Given the description of an element on the screen output the (x, y) to click on. 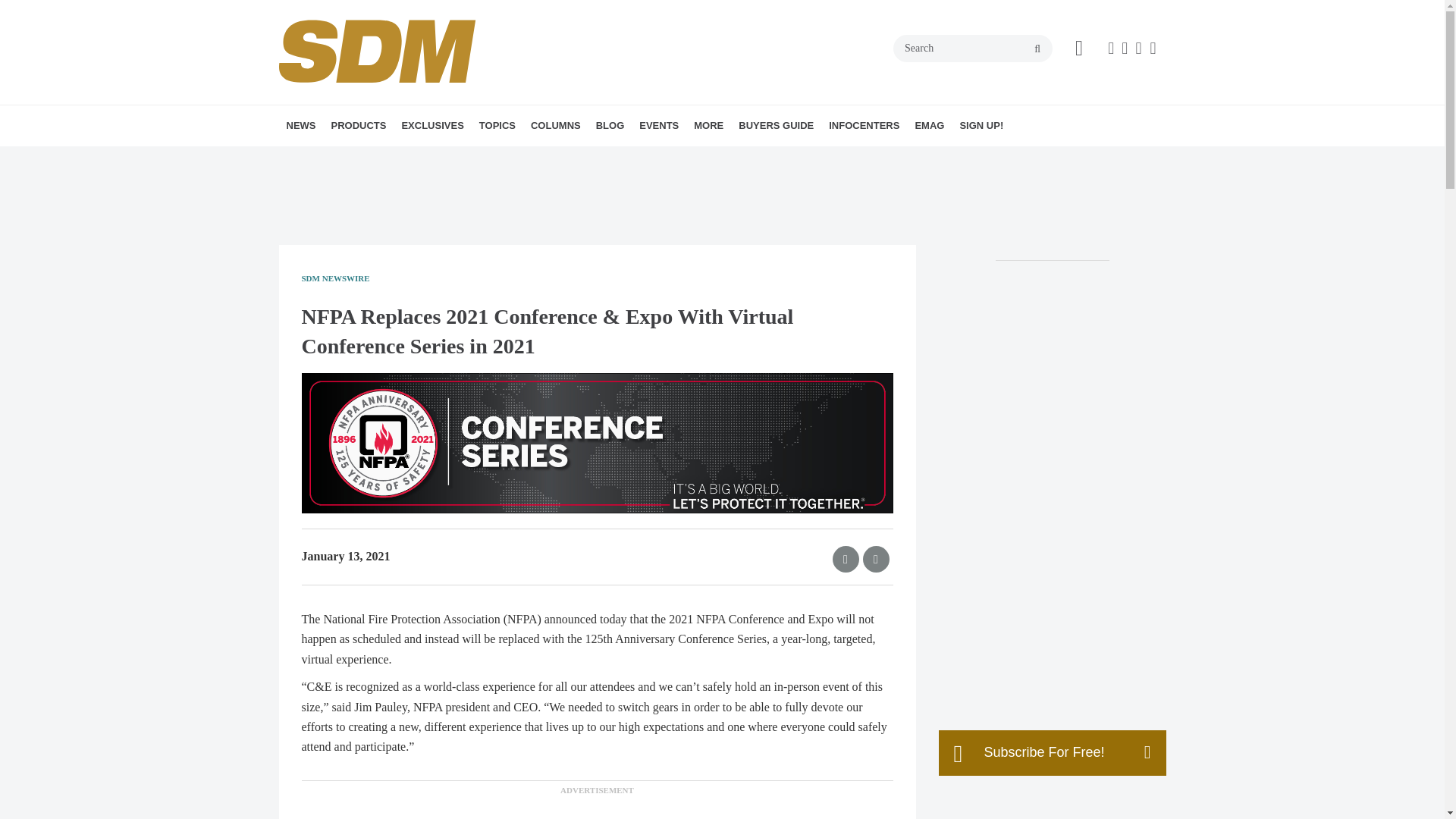
STATE OF THE MARKET SERIES (510, 158)
DIGITAL SHUFFLE (617, 158)
INTEGRATION SPOTLIGHT (636, 158)
search (1037, 49)
Search (972, 48)
PRODUCTS (358, 125)
VIDEO SOLUTIONS (573, 158)
EDITOR'S ANGLE (625, 158)
SMART HOME (587, 158)
NEWS (301, 125)
